Given the description of an element on the screen output the (x, y) to click on. 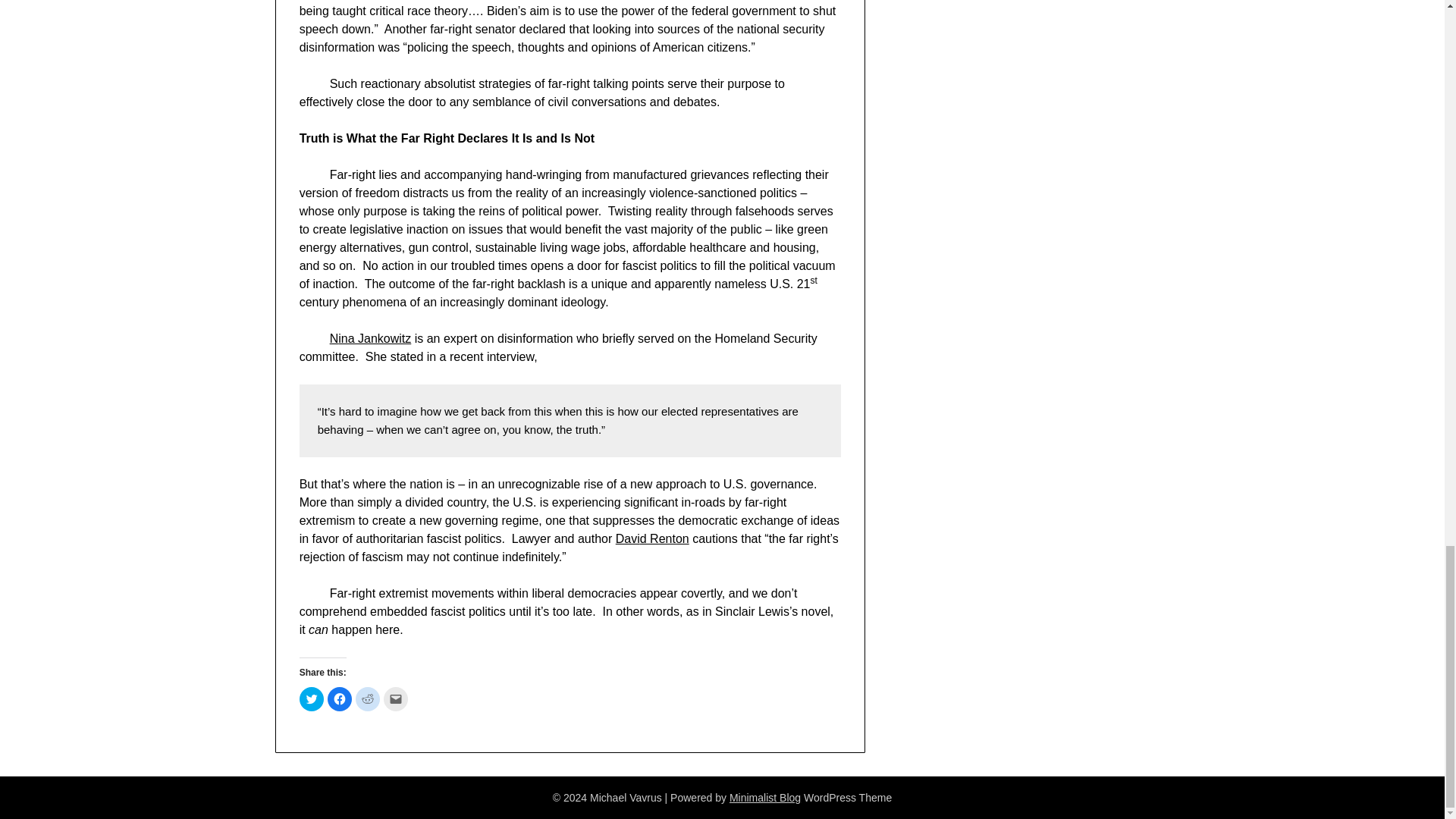
Davi (627, 538)
Click to email a link to a friend (395, 699)
N (334, 338)
Click to share on Reddit (367, 699)
Click to share on Twitter (311, 699)
ina Jankowitz (373, 338)
Minimalist Blog (764, 797)
Click to share on Facebook (339, 699)
d Renton (664, 538)
